Given the description of an element on the screen output the (x, y) to click on. 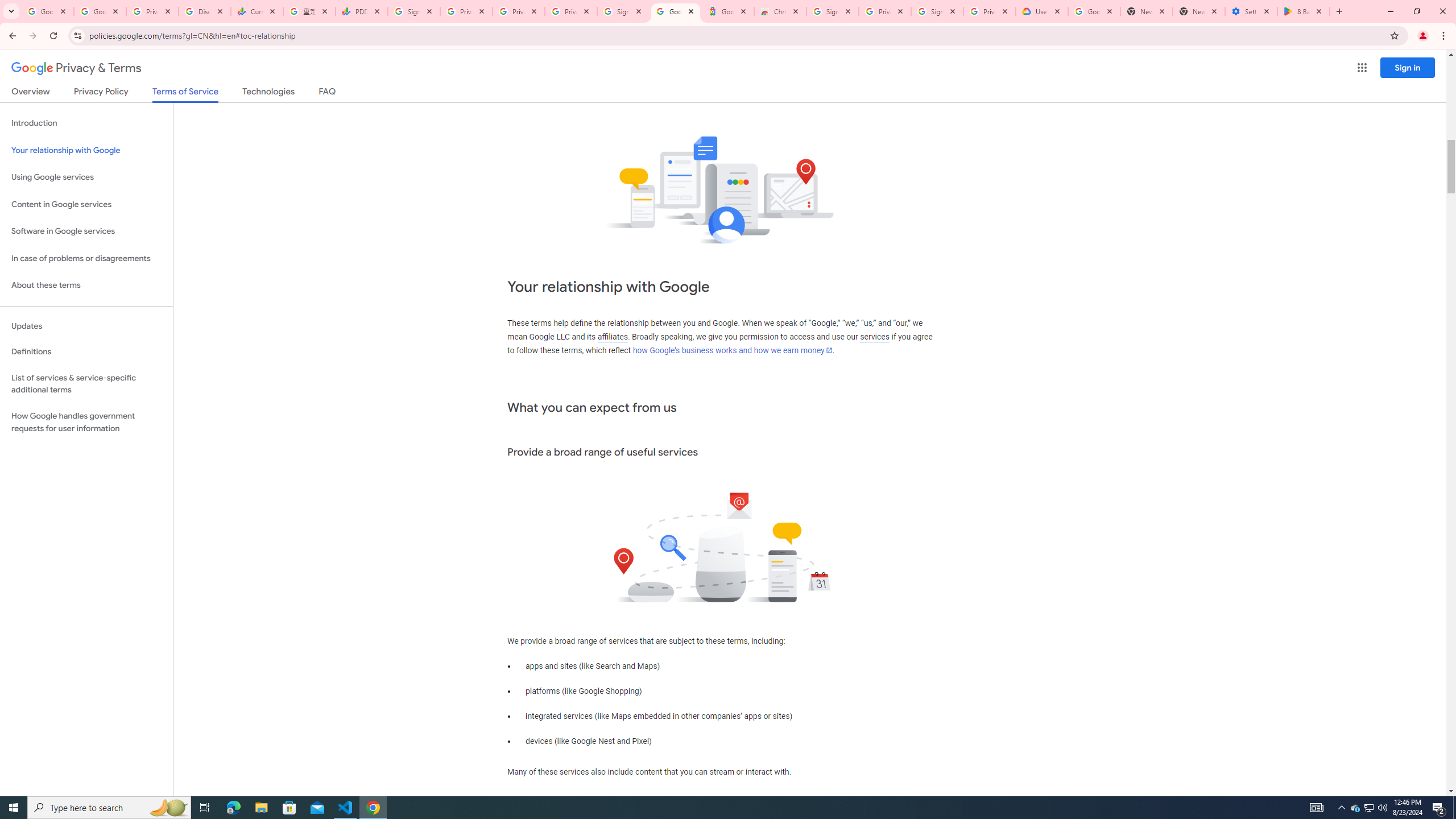
Sign in - Google Accounts (936, 11)
Content in Google services (86, 204)
Privacy Checkup (571, 11)
Privacy Checkup (518, 11)
How Google handles government requests for user information (86, 422)
